Given the description of an element on the screen output the (x, y) to click on. 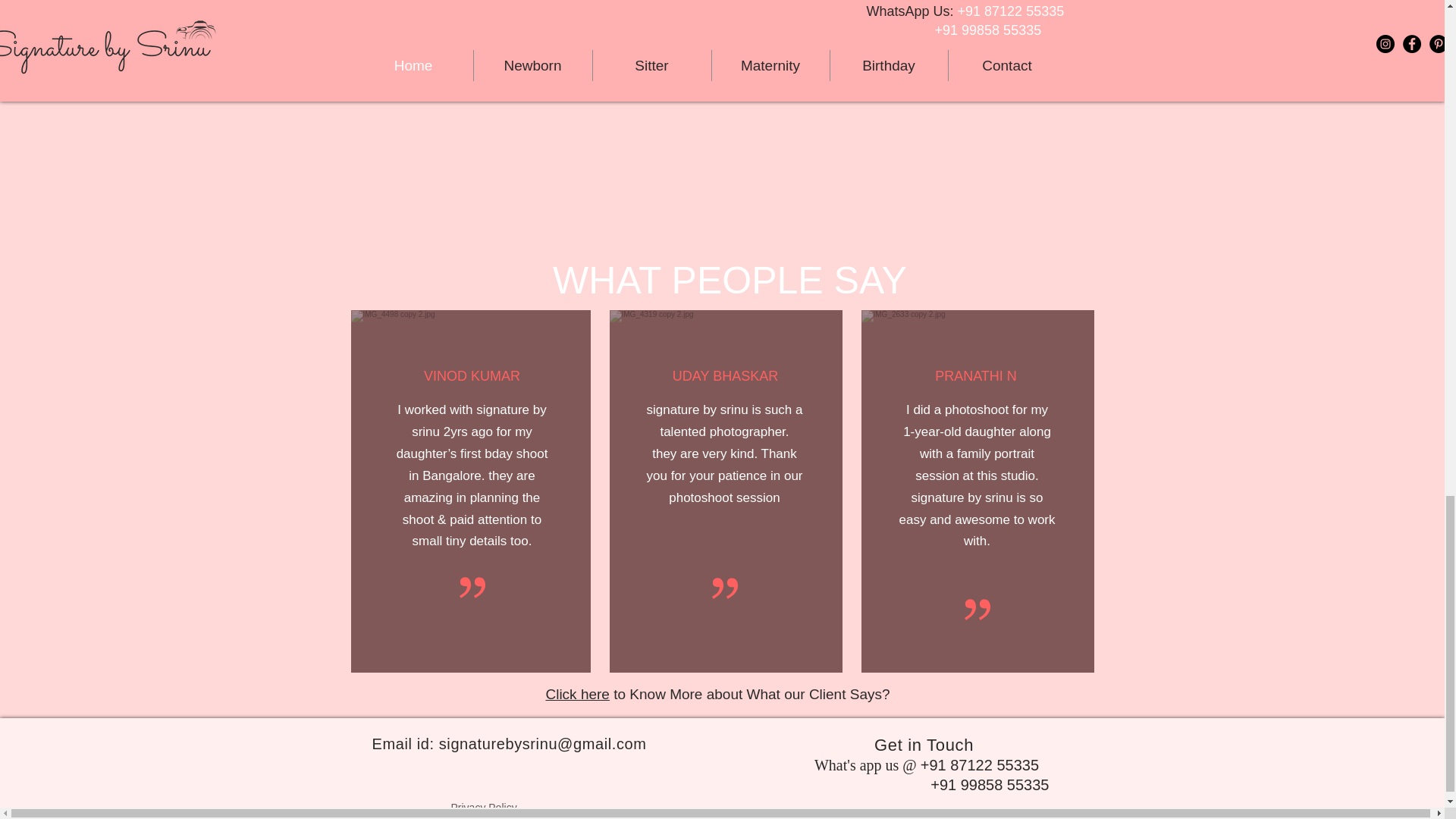
Click here (576, 693)
Privacy Policy (482, 807)
VINOD KUMAR (471, 376)
